Given the description of an element on the screen output the (x, y) to click on. 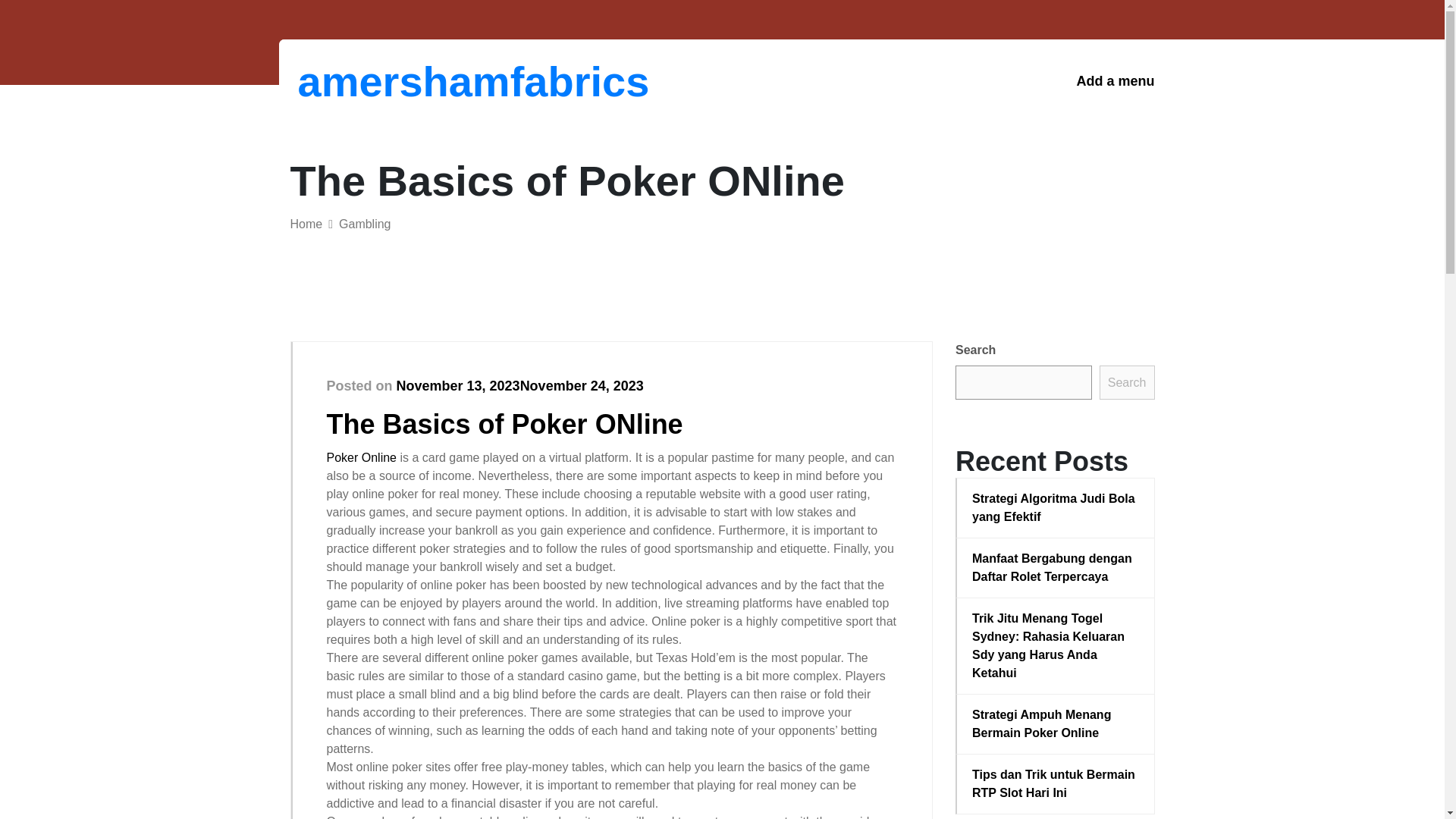
Search (1126, 382)
Poker Online (361, 457)
November 13, 2023November 24, 2023 (519, 385)
Strategi Algoritma Judi Bola yang Efektif (1055, 507)
The Basics of Poker ONline (504, 423)
Home (305, 223)
Manfaat Bergabung dengan Daftar Rolet Terpercaya (1055, 567)
Strategi Ampuh Menang Bermain Poker Online (1055, 723)
Add a menu (1114, 81)
Tips dan Trik untuk Bermain RTP Slot Hari Ini (1055, 783)
Gambling (364, 223)
amershamfabrics (376, 81)
